Given the description of an element on the screen output the (x, y) to click on. 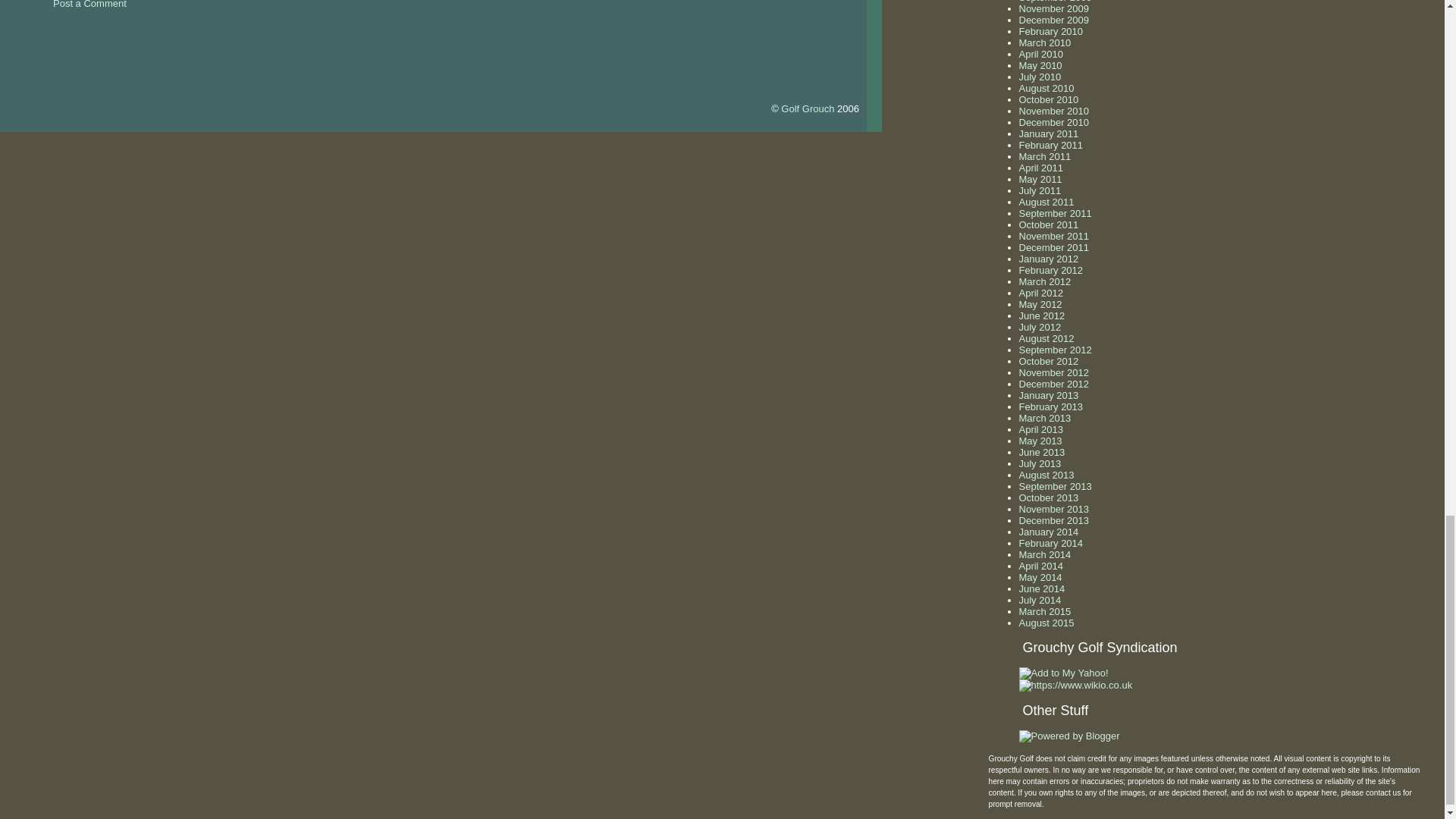
Post a Comment (89, 4)
Golf Grouch (807, 108)
Advertisement (177, 41)
